Given the description of an element on the screen output the (x, y) to click on. 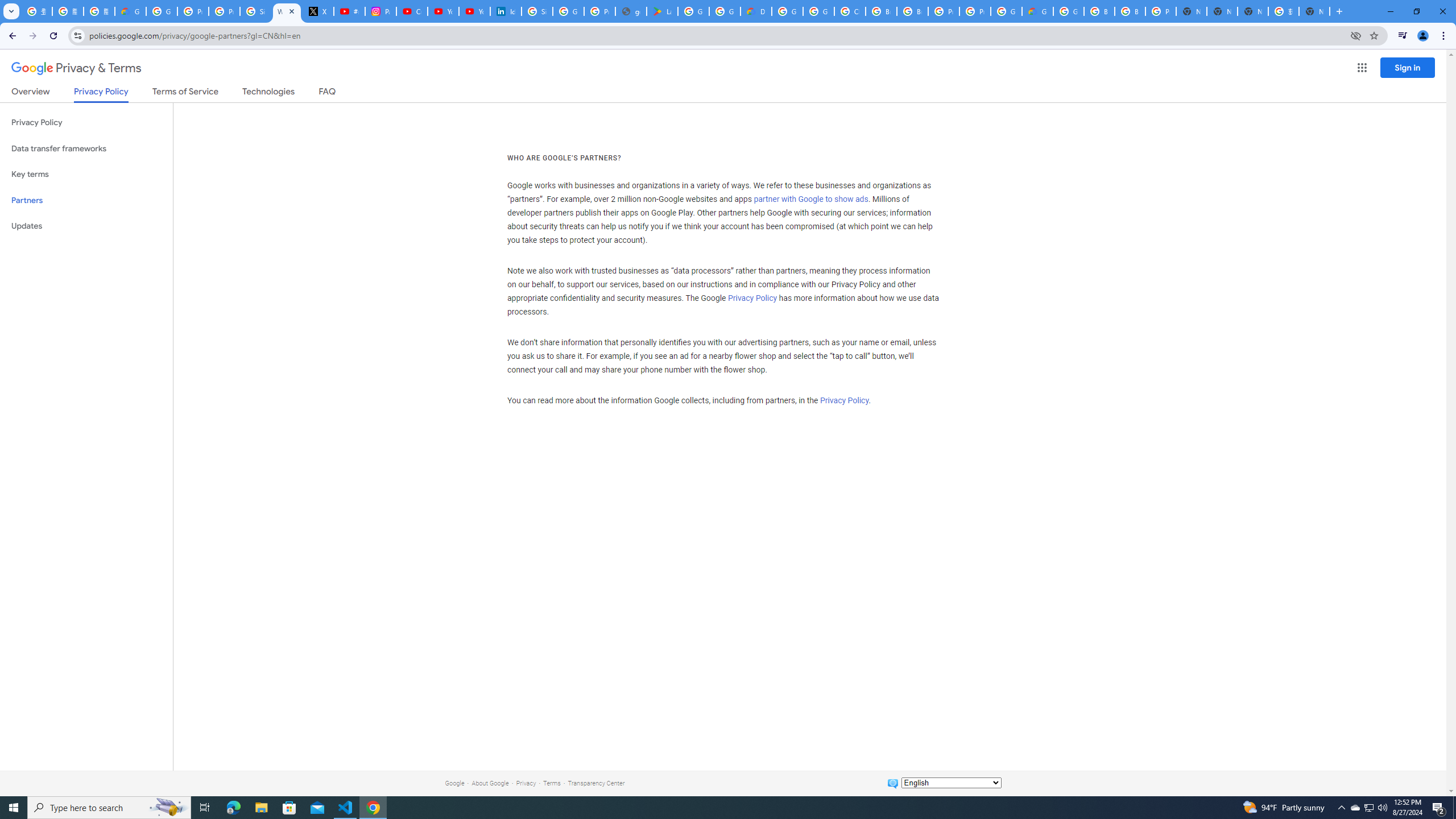
Sign in - Google Accounts (536, 11)
Google Cloud Platform (1068, 11)
